Given the description of an element on the screen output the (x, y) to click on. 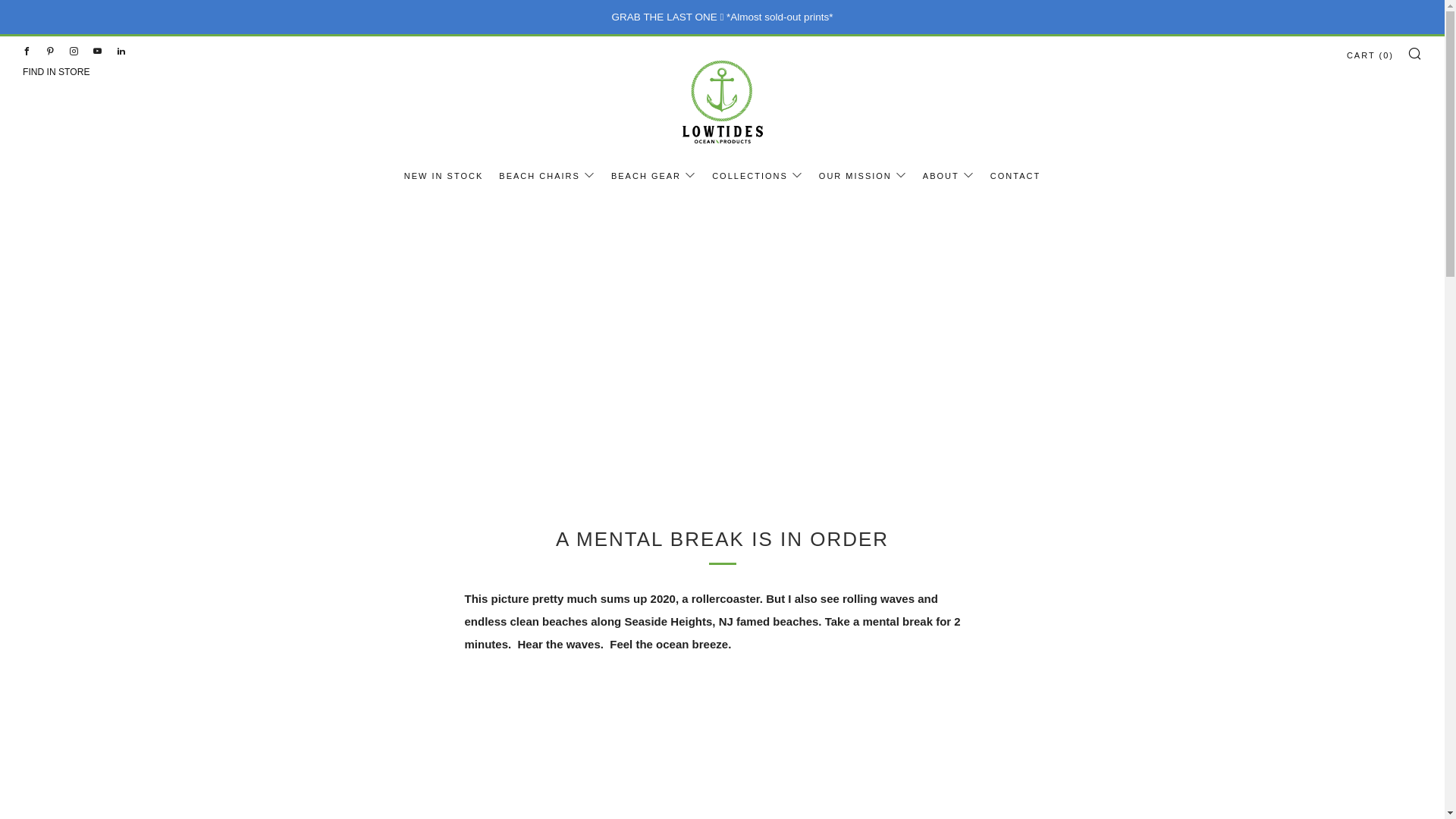
BEACH CHAIRS (547, 175)
BEACH GEAR (653, 175)
NEW IN STOCK (443, 175)
